Given the description of an element on the screen output the (x, y) to click on. 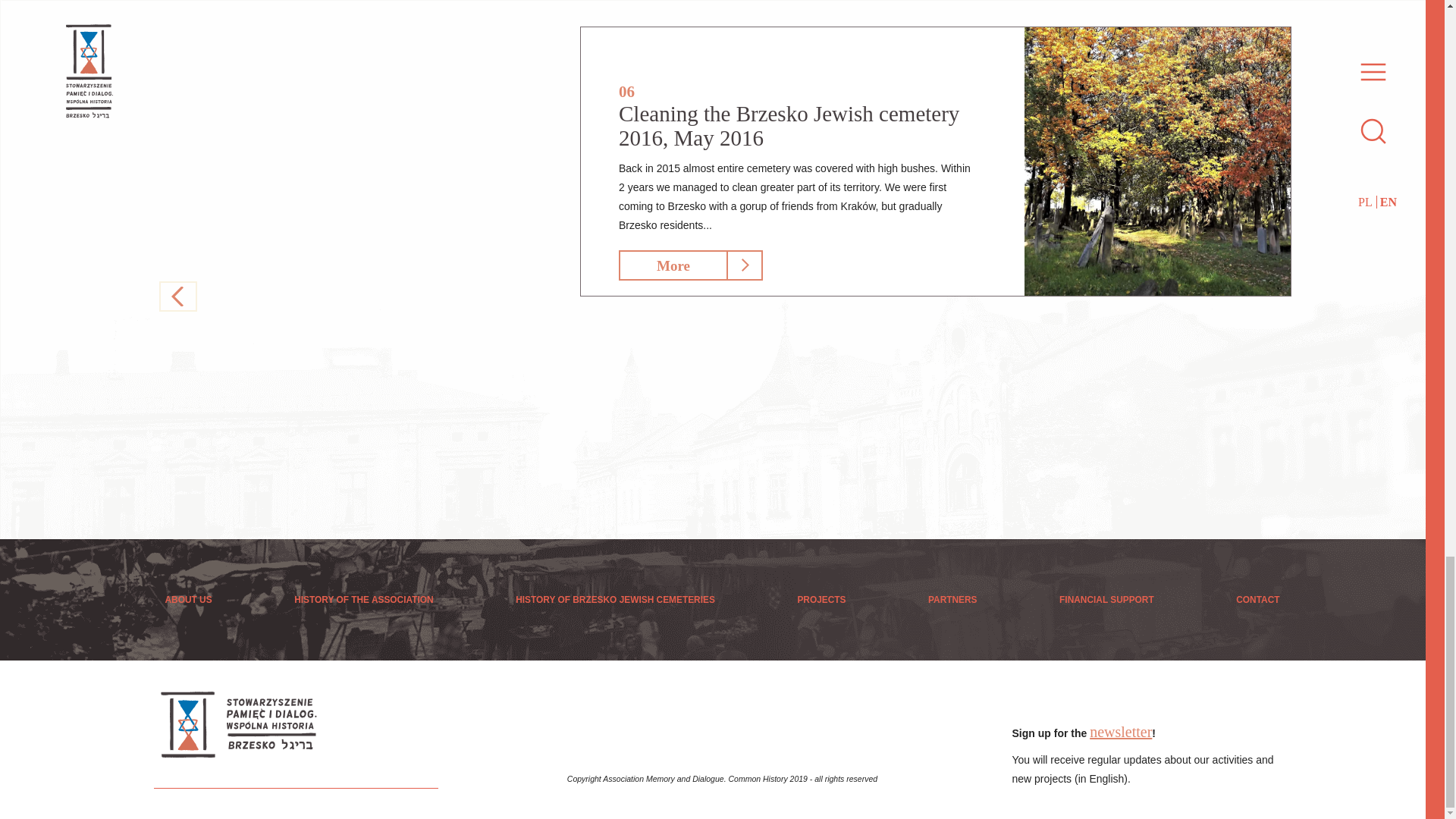
Cleaning the Brzesko Jewish cemetery 2016, May 2016 (788, 125)
More (673, 265)
Cleaning the Brzesko Jewish cemetery 2016, May 2016 (1157, 161)
